Given the description of an element on the screen output the (x, y) to click on. 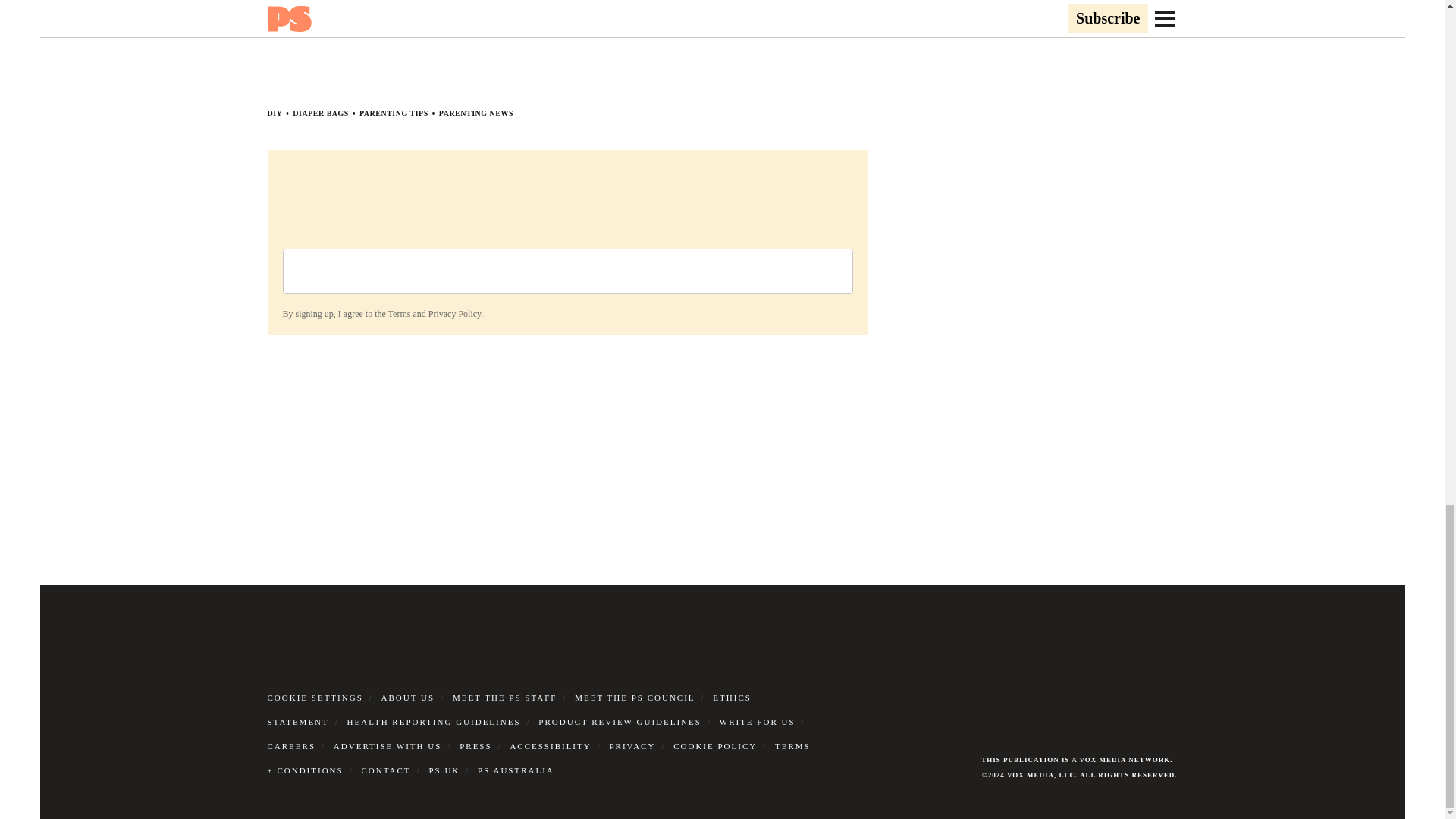
ETHICS STATEMENT (508, 709)
DIAPER BAGS (320, 112)
HEALTH REPORTING GUIDELINES (434, 721)
ADVERTISE WITH US (387, 746)
DIY (274, 112)
PRESS (476, 746)
PARENTING TIPS (393, 112)
CONTACT (385, 770)
WRITE FOR US (756, 721)
ABOUT US (408, 697)
